Given the description of an element on the screen output the (x, y) to click on. 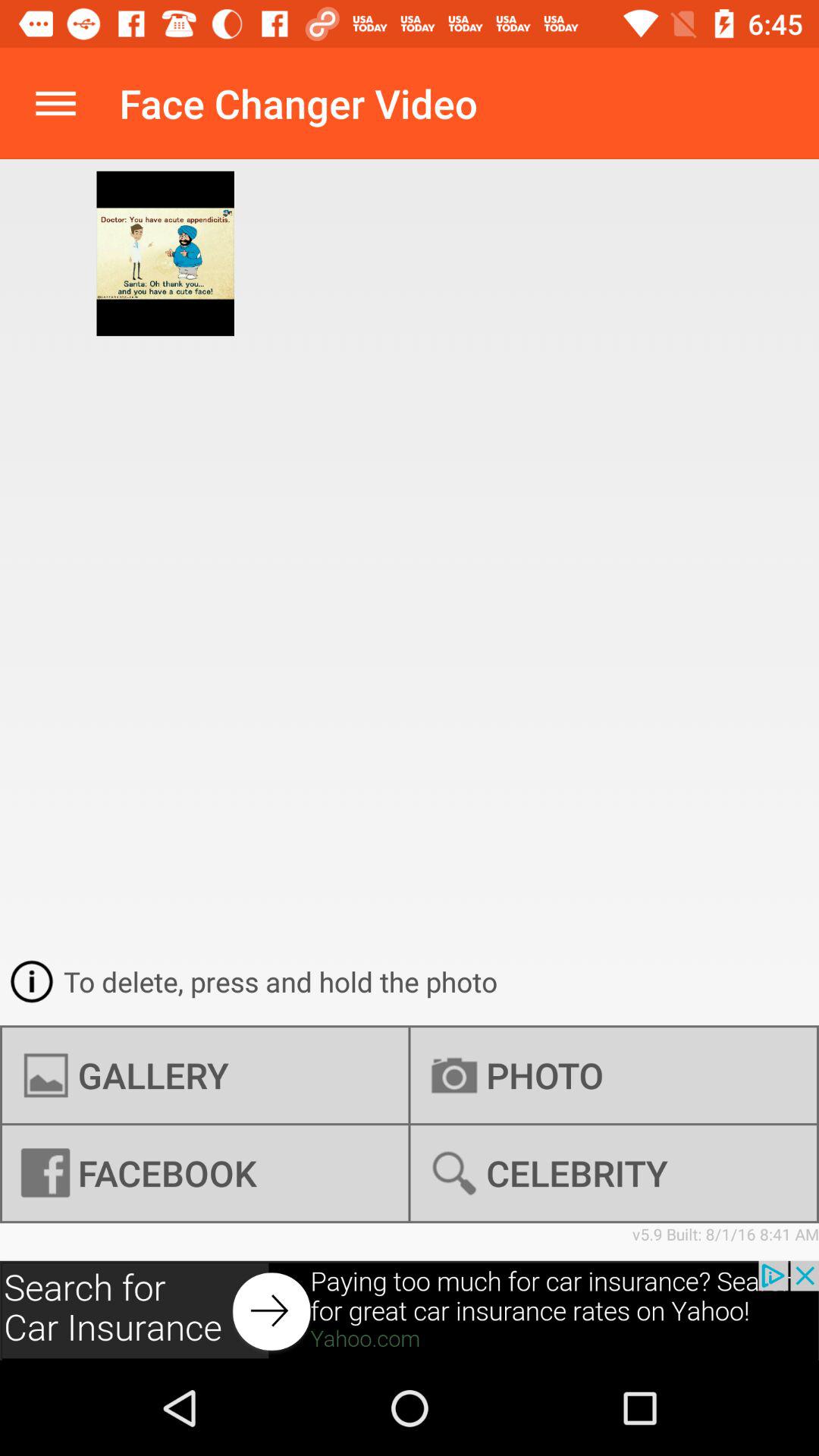
open menu (55, 103)
